Given the description of an element on the screen output the (x, y) to click on. 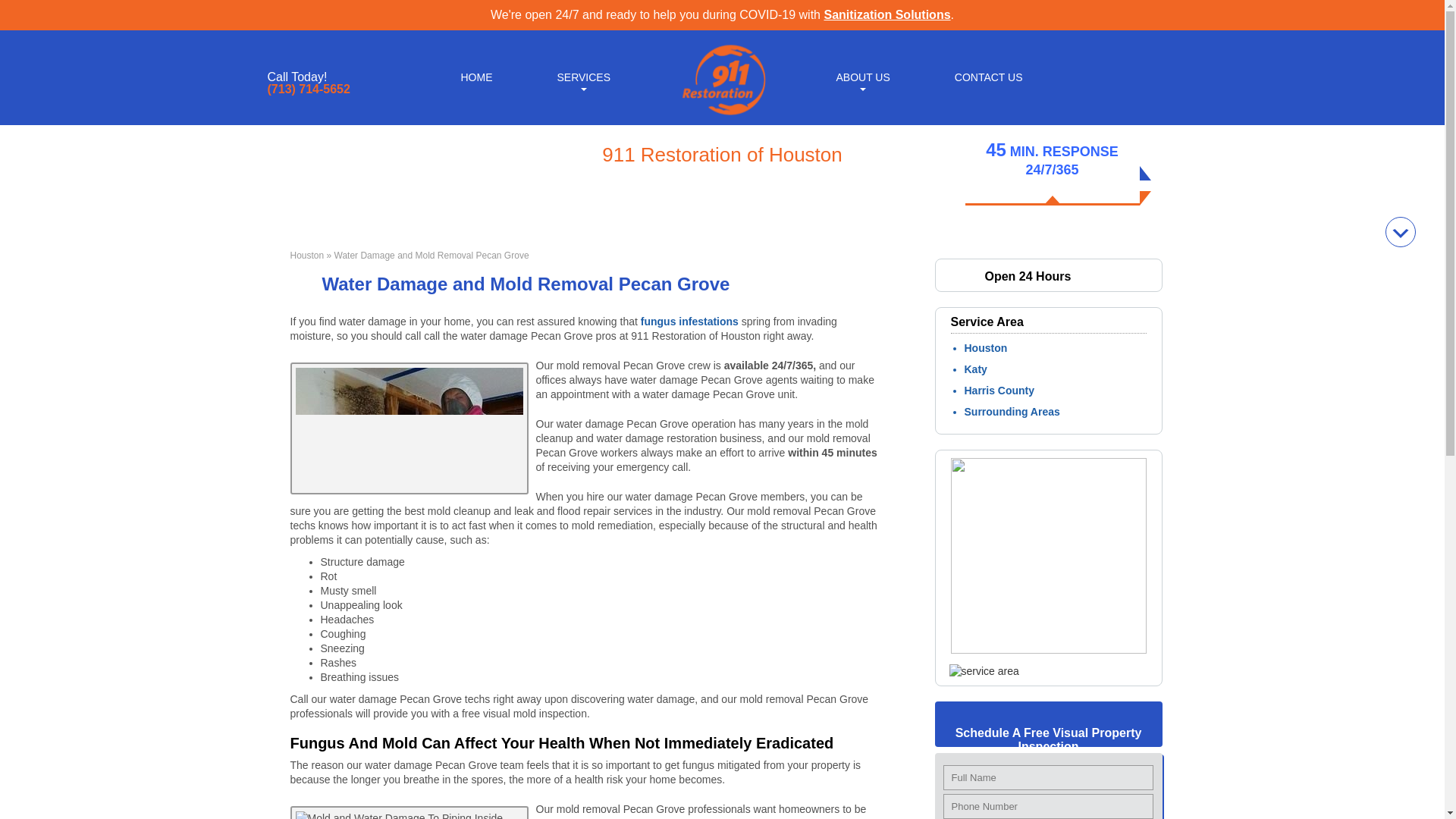
Mold and Water Damage To Piping Inside Walls (408, 812)
Scroll to Down (1400, 232)
Go to Houston. (306, 255)
HOME (476, 76)
Service Area (984, 671)
Cleaning Out Mold Infestation From Drywall (408, 428)
CONTACT US (988, 76)
Sanitization Solutions (887, 14)
SERVICES (582, 76)
911 Water Damage Restoration Logo (721, 115)
